Given the description of an element on the screen output the (x, y) to click on. 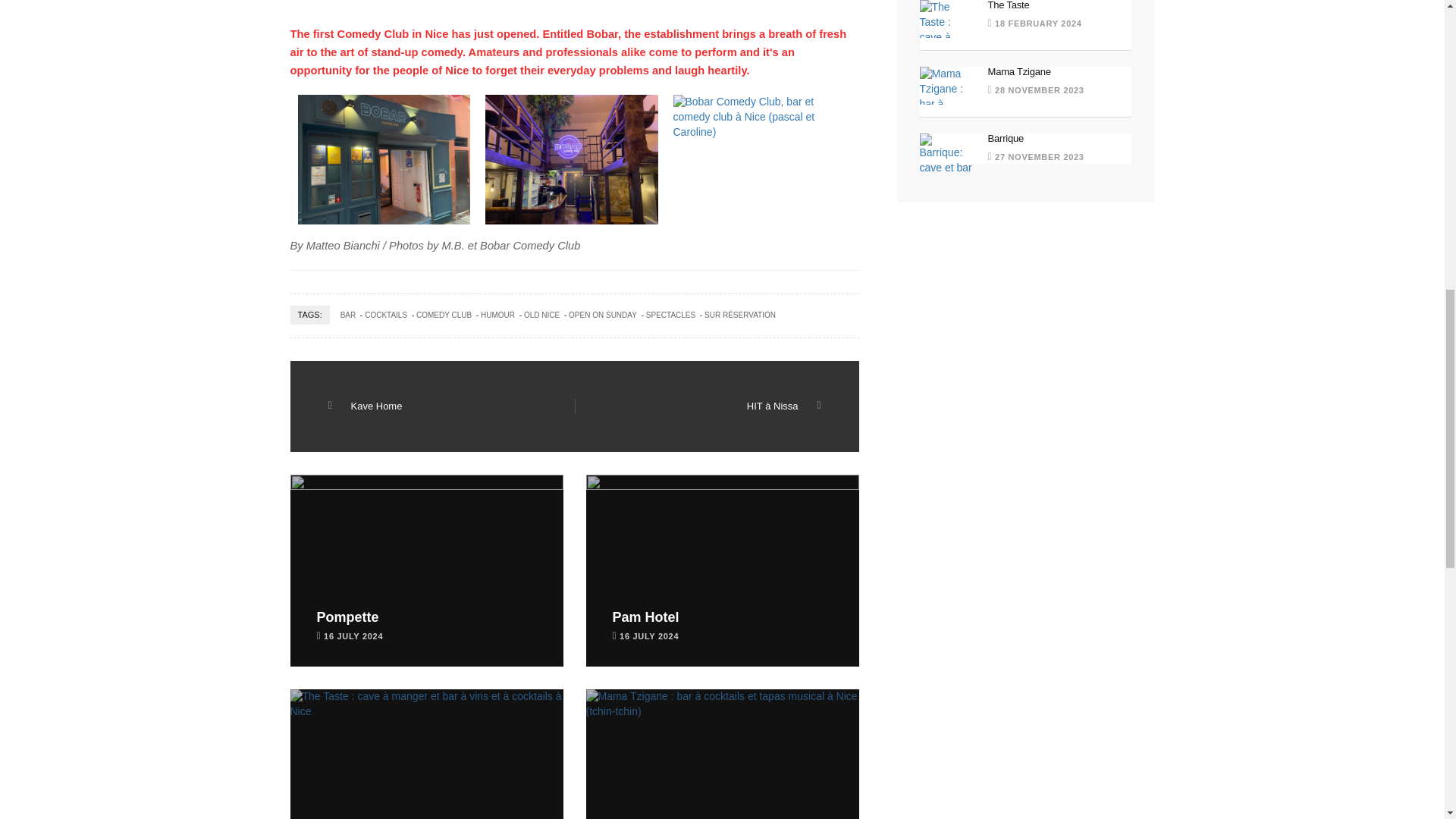
Pam Hotel (645, 616)
Pompette (347, 616)
